Given the description of an element on the screen output the (x, y) to click on. 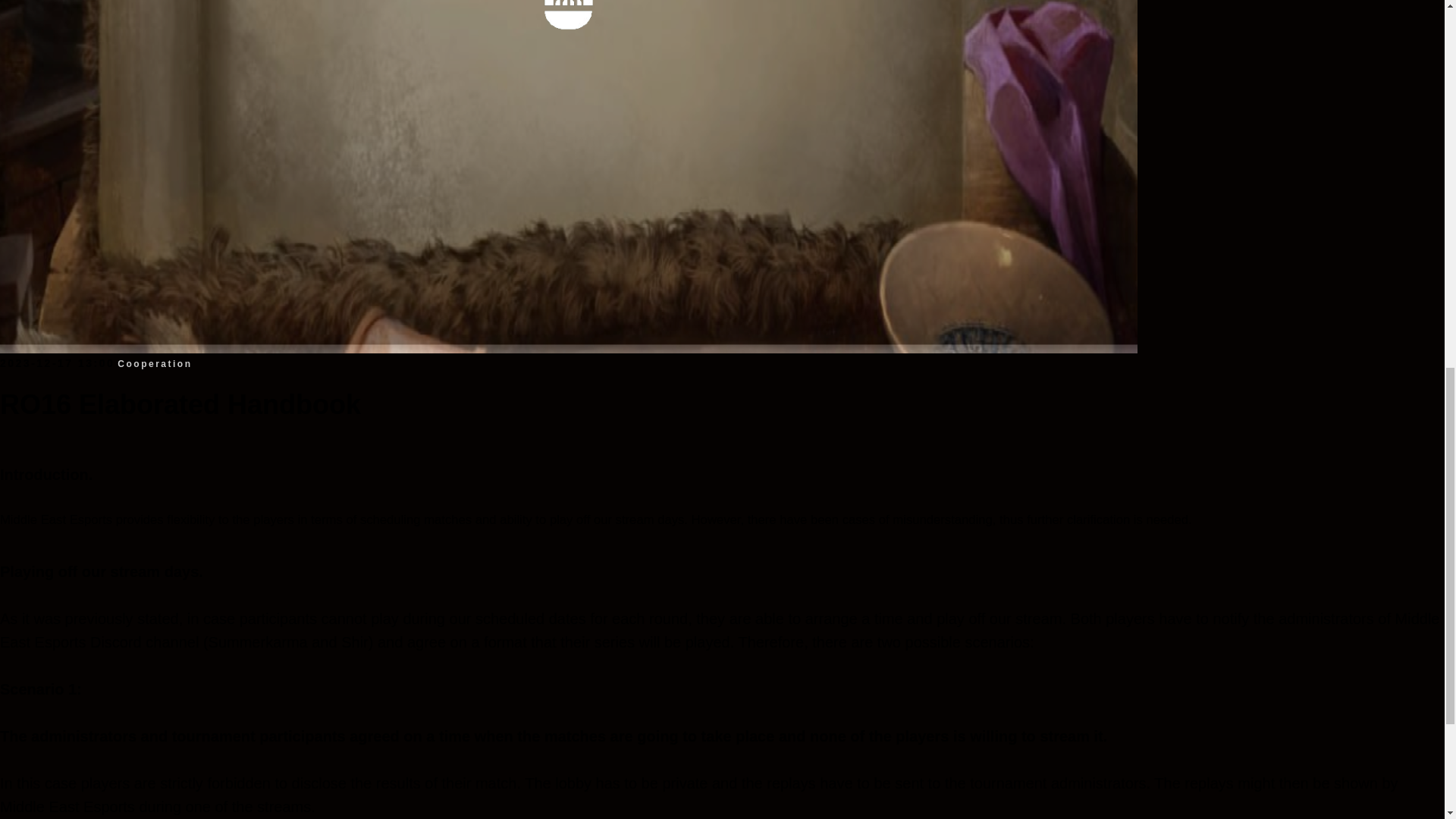
Cooperation (154, 362)
